Given the description of an element on the screen output the (x, y) to click on. 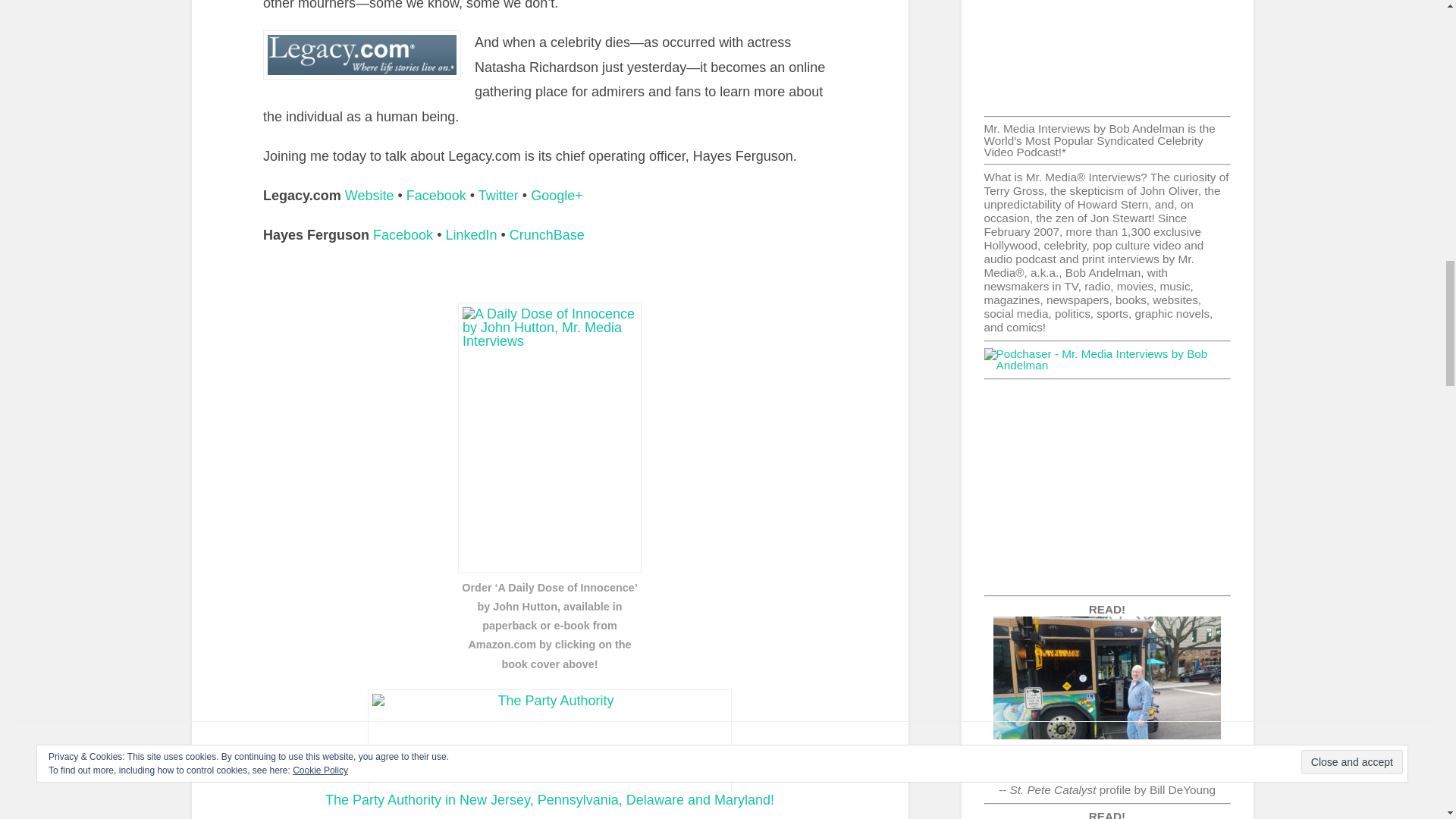
Website (369, 195)
LinkedIn (470, 234)
The Party Authority (550, 740)
CrunchBase (547, 234)
Twitter (498, 195)
Legacy.com (362, 54)
Facebook (402, 234)
Facebook (435, 195)
